Given the description of an element on the screen output the (x, y) to click on. 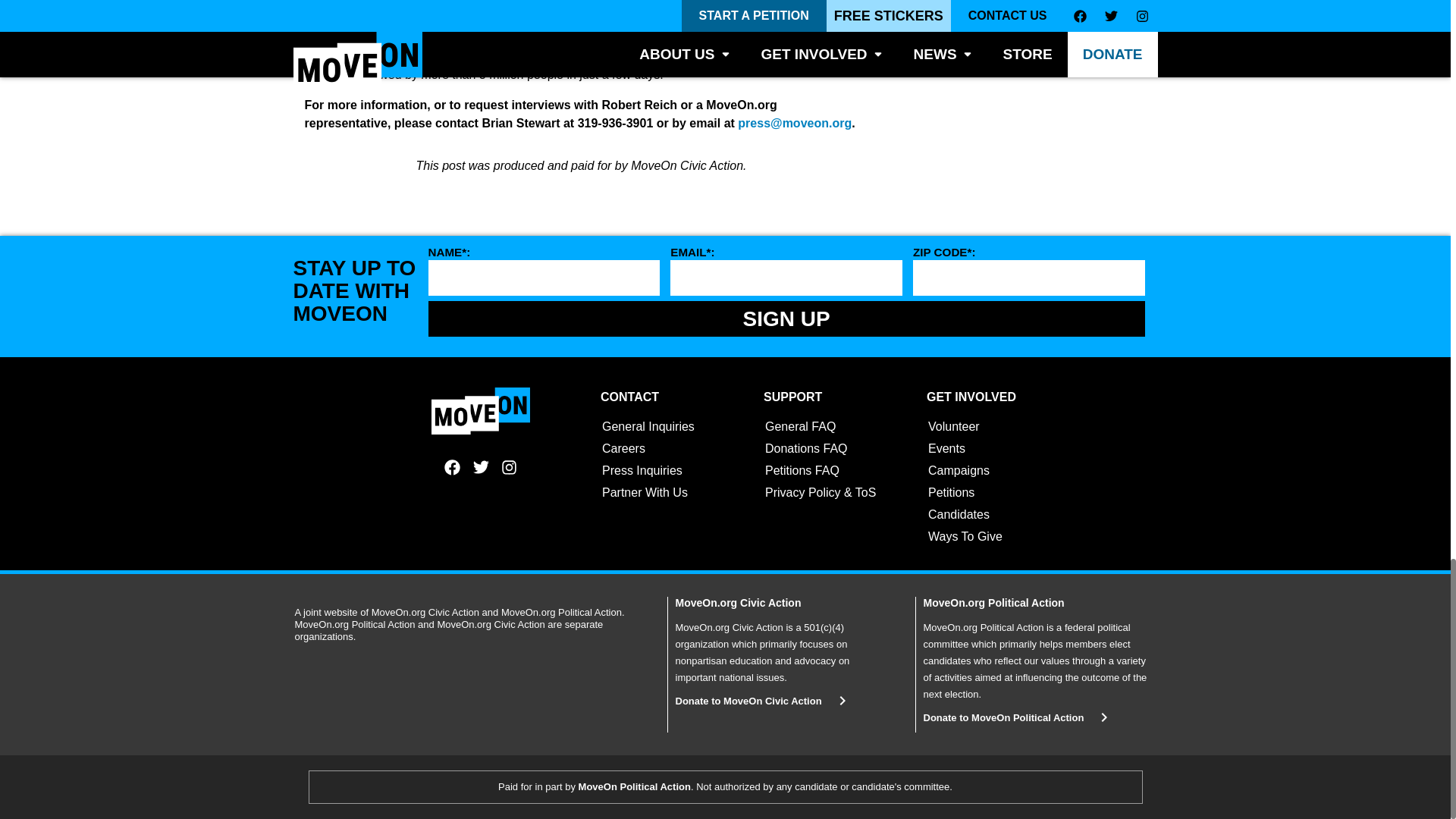
video (601, 56)
